Given the description of an element on the screen output the (x, y) to click on. 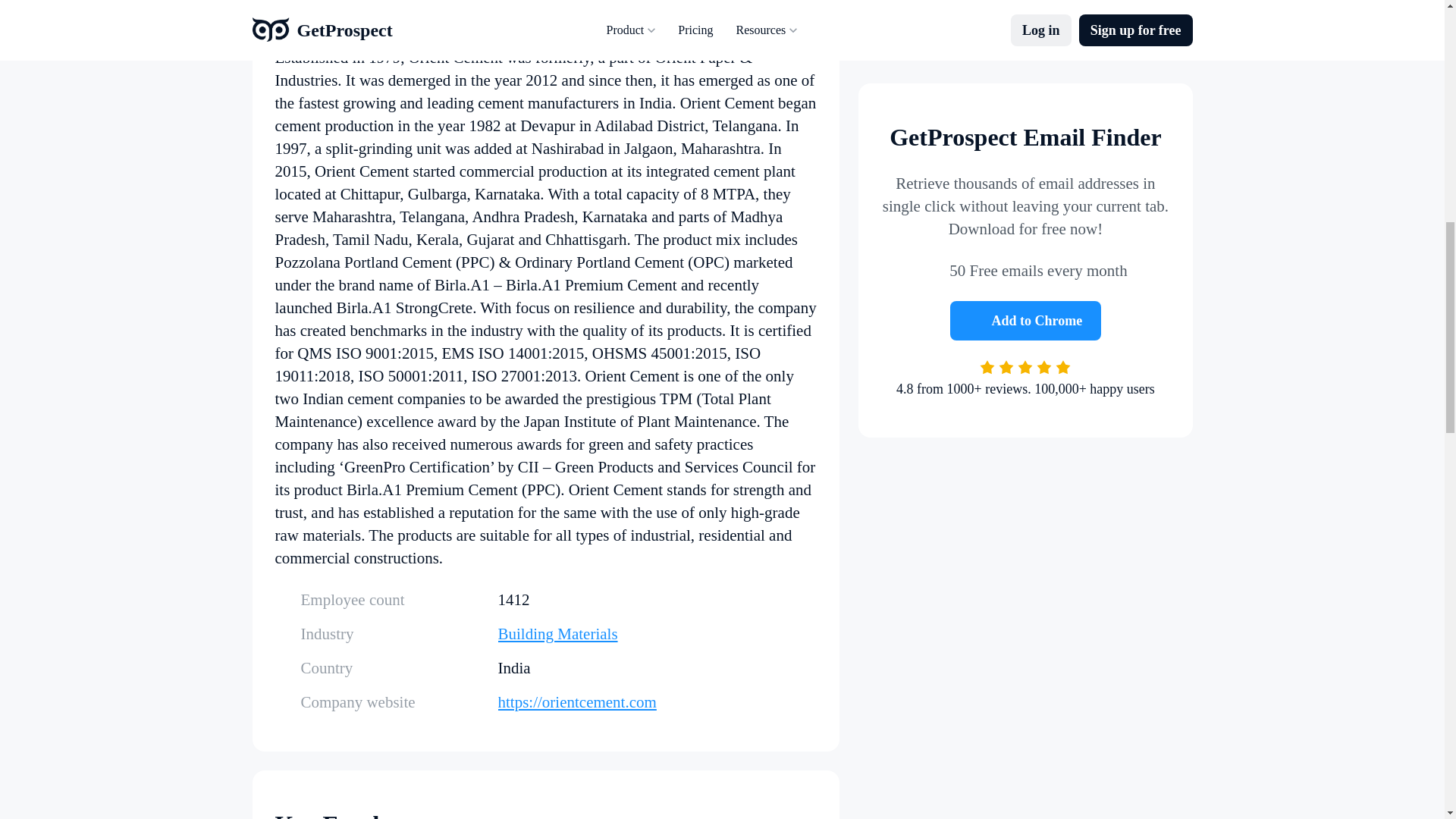
Add to Chrome (1026, 194)
Building Materials (656, 633)
